Given the description of an element on the screen output the (x, y) to click on. 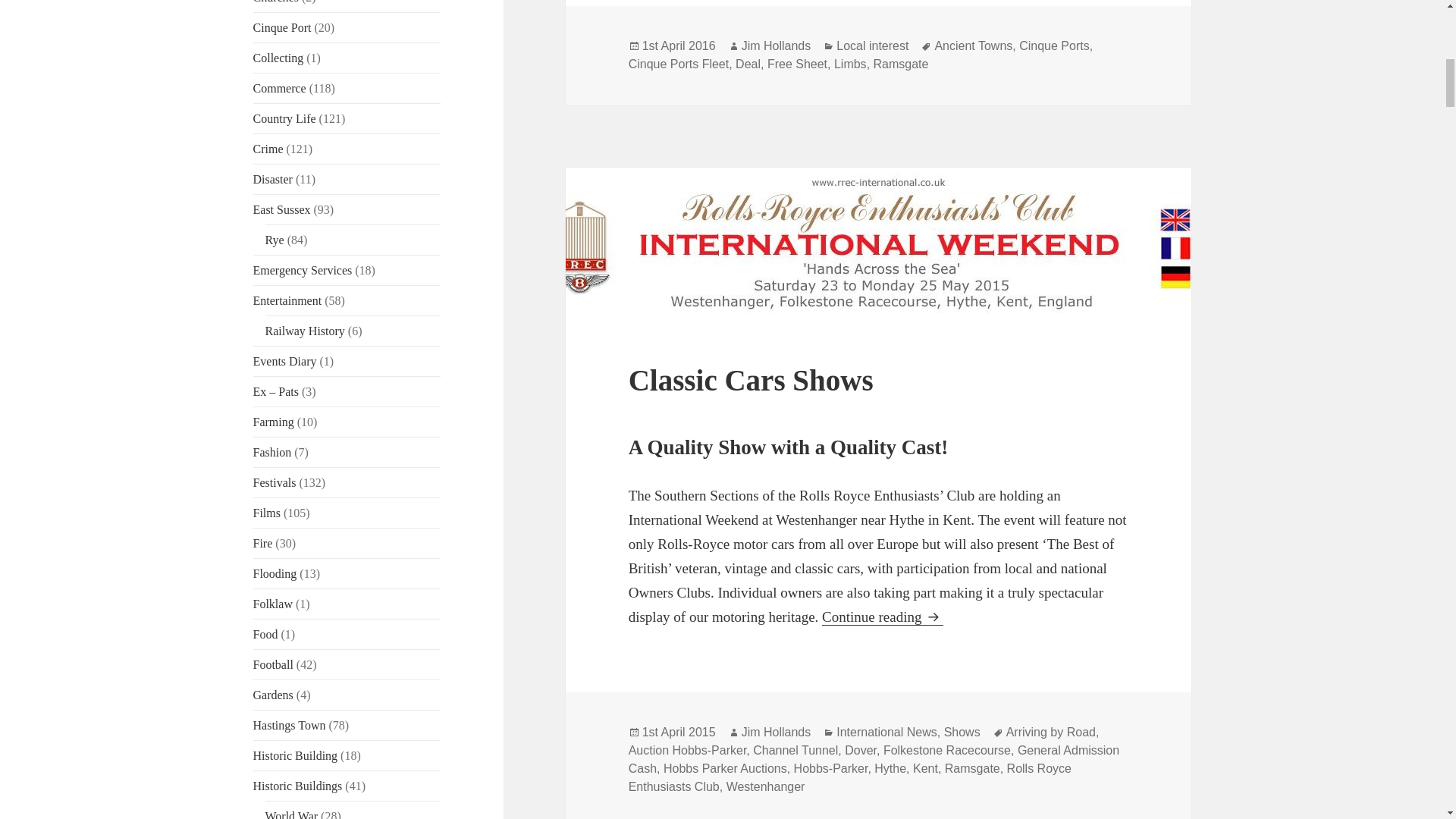
Rye (273, 239)
Events Diary (285, 360)
Railway History (304, 330)
Fire (263, 543)
Country Life (284, 118)
Fashion (272, 451)
Crime (268, 148)
Entertainment (287, 300)
Emergency Services (302, 269)
Disaster (272, 178)
Commerce (279, 88)
Films (267, 512)
Collecting (278, 57)
Football (273, 664)
Churches (275, 2)
